Given the description of an element on the screen output the (x, y) to click on. 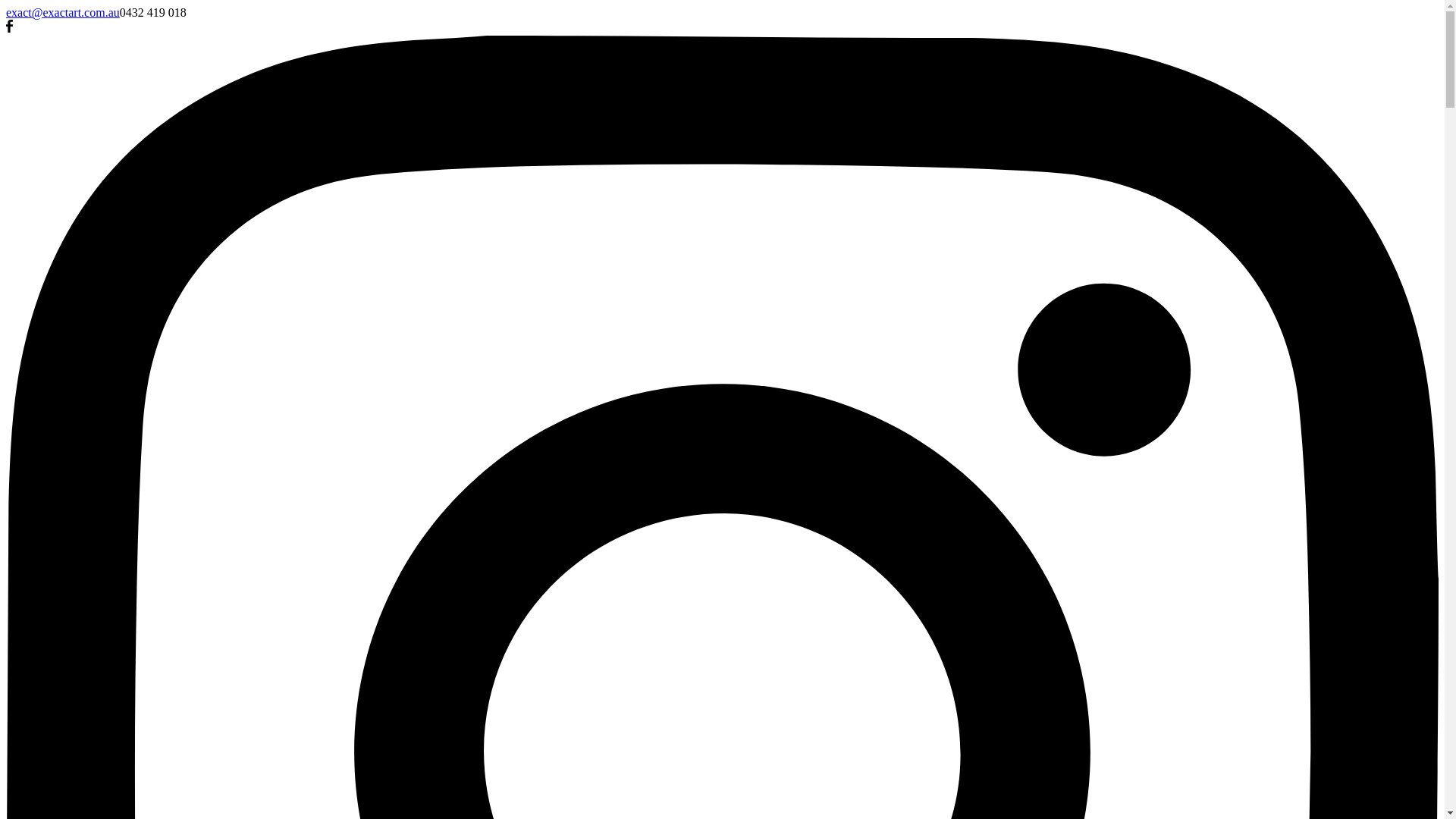
exact@exactart.com.au Element type: text (62, 12)
A link to this website's Facebook. Element type: hover (9, 27)
